Given the description of an element on the screen output the (x, y) to click on. 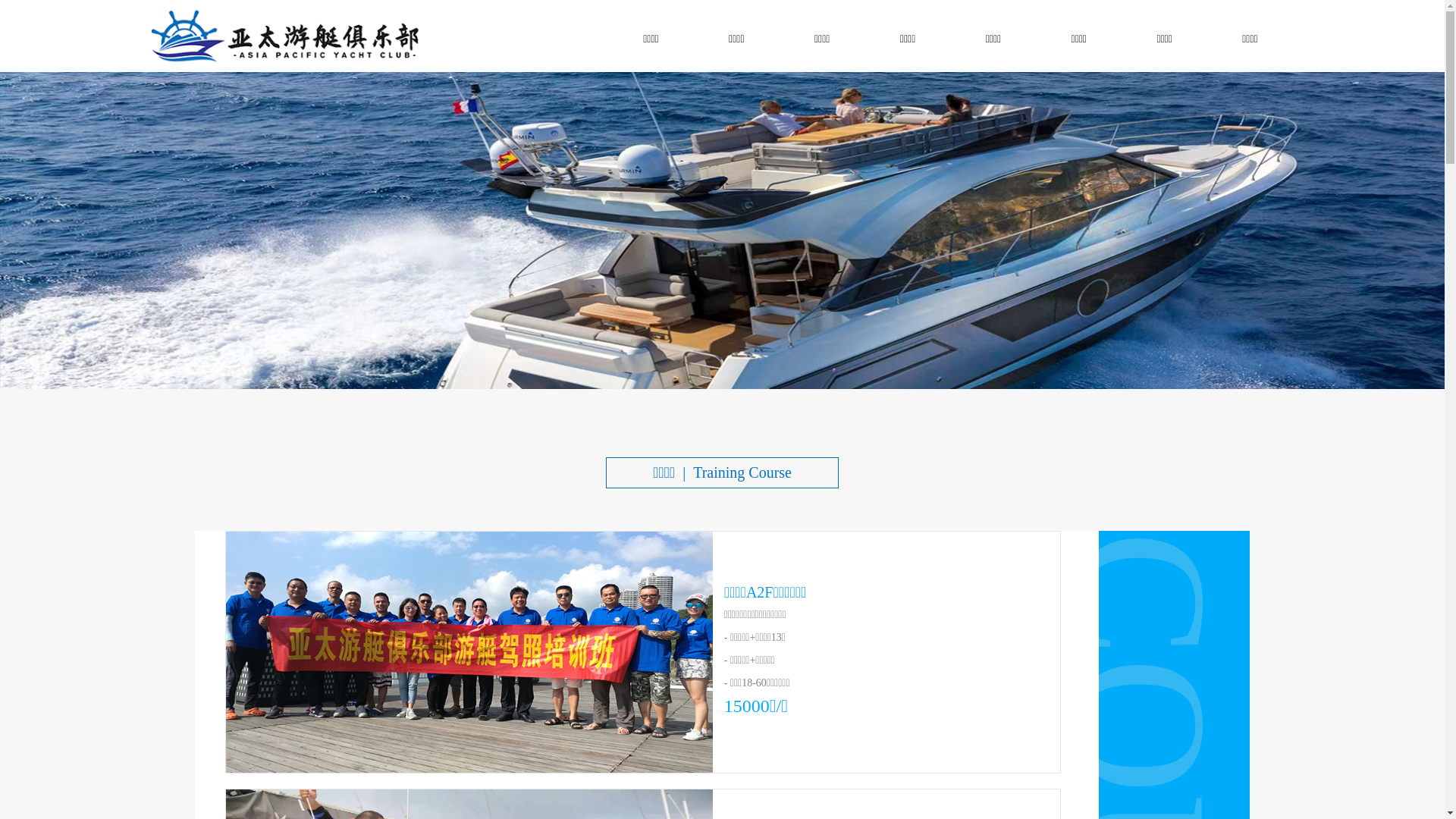
1663851506826317.png Element type: hover (288, 35)
